Given the description of an element on the screen output the (x, y) to click on. 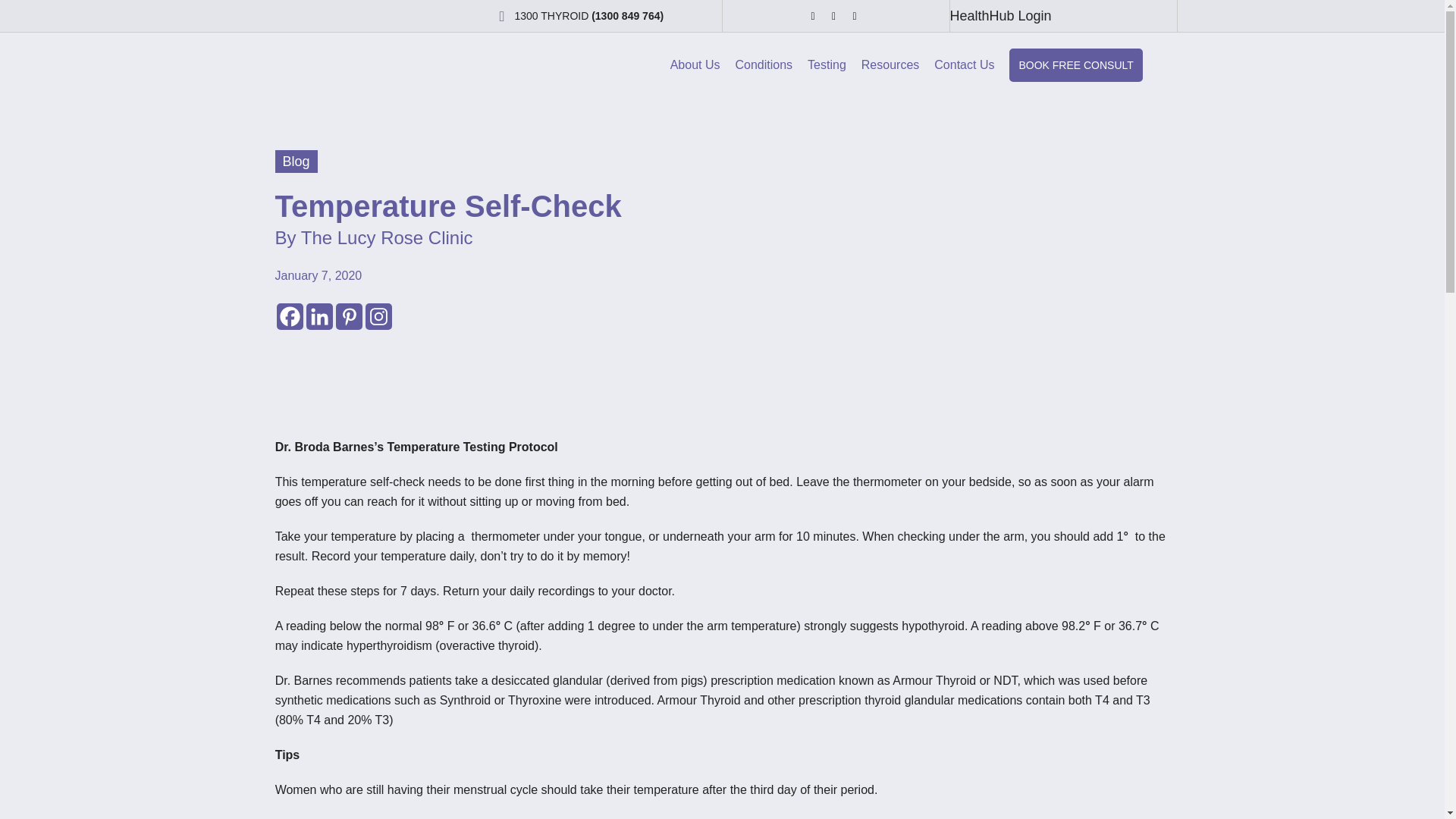
HealthHub Login (1000, 15)
About Us (695, 64)
Resources (889, 64)
Instagram (378, 316)
Testing (826, 64)
Conditions (764, 64)
Facebook (289, 316)
Pinterest (347, 316)
Linkedin (319, 316)
